Given the description of an element on the screen output the (x, y) to click on. 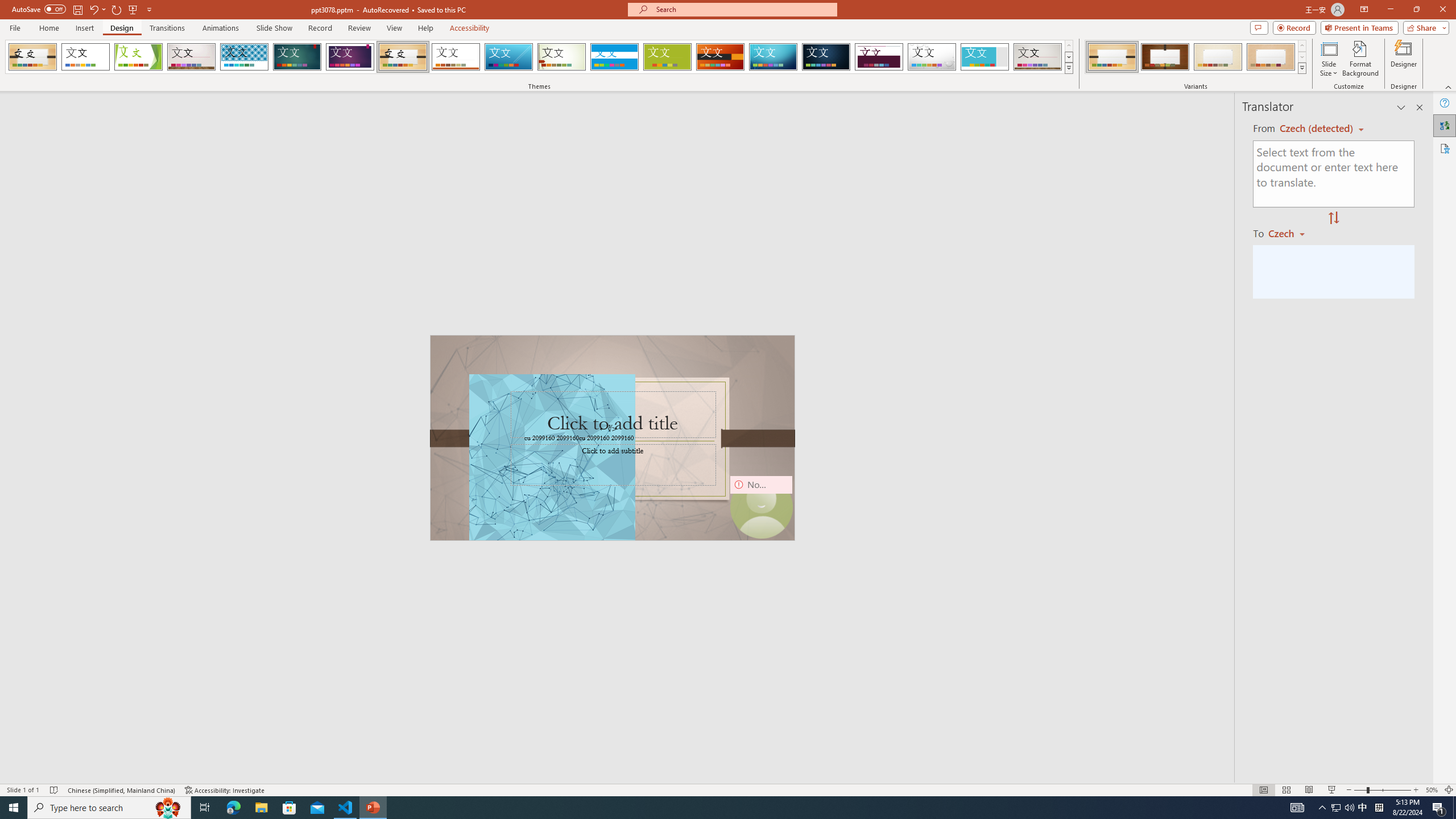
Damask (826, 56)
Banded (614, 56)
AutomationID: SlideThemesGallery (539, 56)
Integral (244, 56)
